Given the description of an element on the screen output the (x, y) to click on. 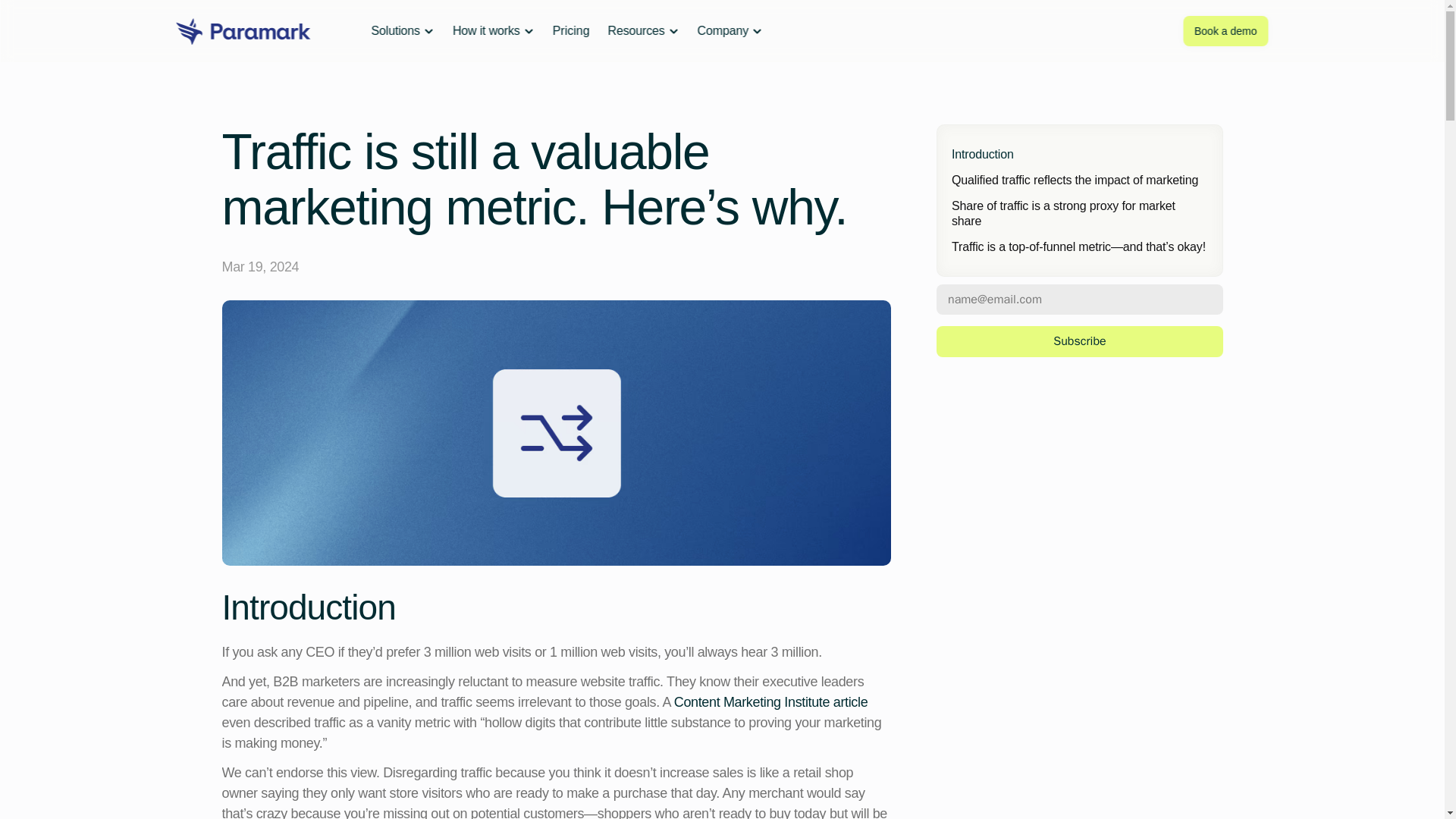
Book a demo (1225, 30)
Subscribe (1079, 340)
Pricing (571, 30)
Content Marketing Institute article (770, 702)
Qualified traffic reflects the impact of marketing (1078, 179)
Share of traffic is a strong proxy for market share (1078, 213)
Introduction (1078, 154)
Subscribe (1079, 340)
